Given the description of an element on the screen output the (x, y) to click on. 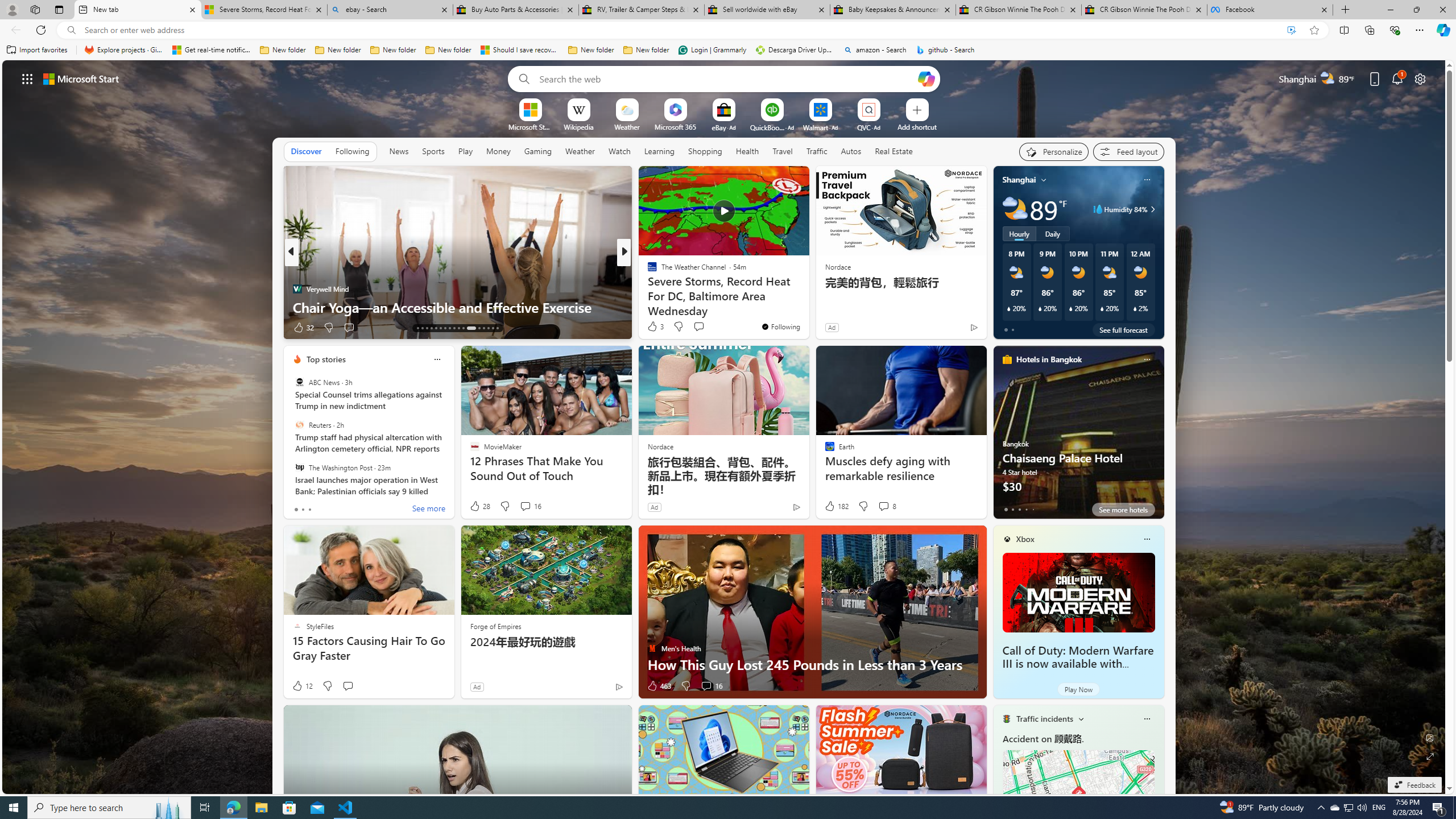
Play (465, 151)
Class: weather-current-precipitation-glyph (1134, 308)
NBC News (647, 270)
AutomationID: tab-29 (497, 328)
Weather (580, 151)
Sports (432, 151)
Traffic Title Traffic Light (1005, 718)
Buy Auto Parts & Accessories | eBay (515, 9)
Wikipedia (578, 126)
